Given the description of an element on the screen output the (x, y) to click on. 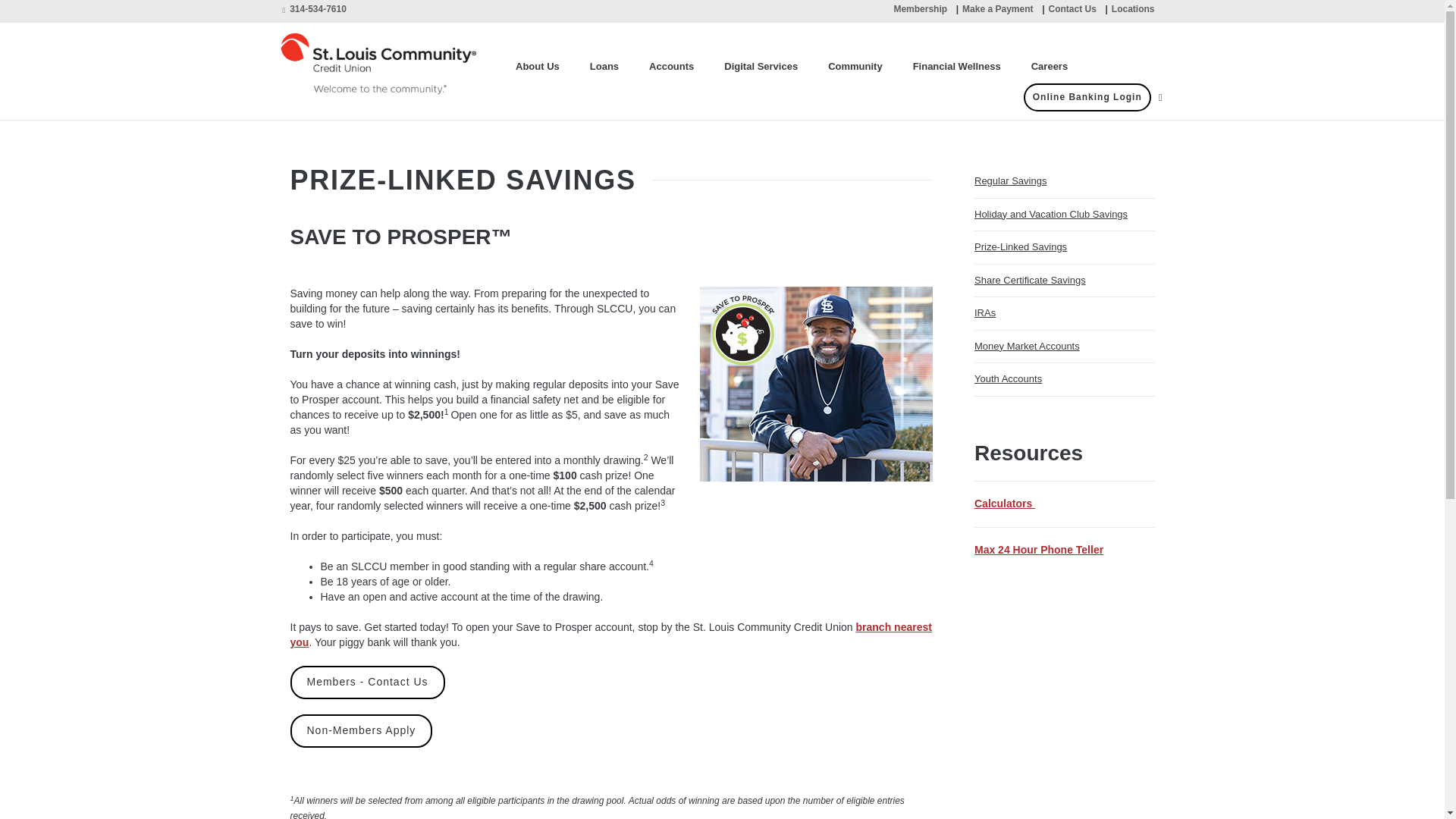
Membership (920, 9)
314-534-7610 (314, 9)
Contact Us (1072, 9)
Locations (1133, 9)
Call 314-534-7610 (314, 9)
Loans (604, 66)
Online Banking Login (1087, 97)
St. Louis Community Credit Union, St. Louis, MO (389, 62)
About Us (537, 66)
